Given the description of an element on the screen output the (x, y) to click on. 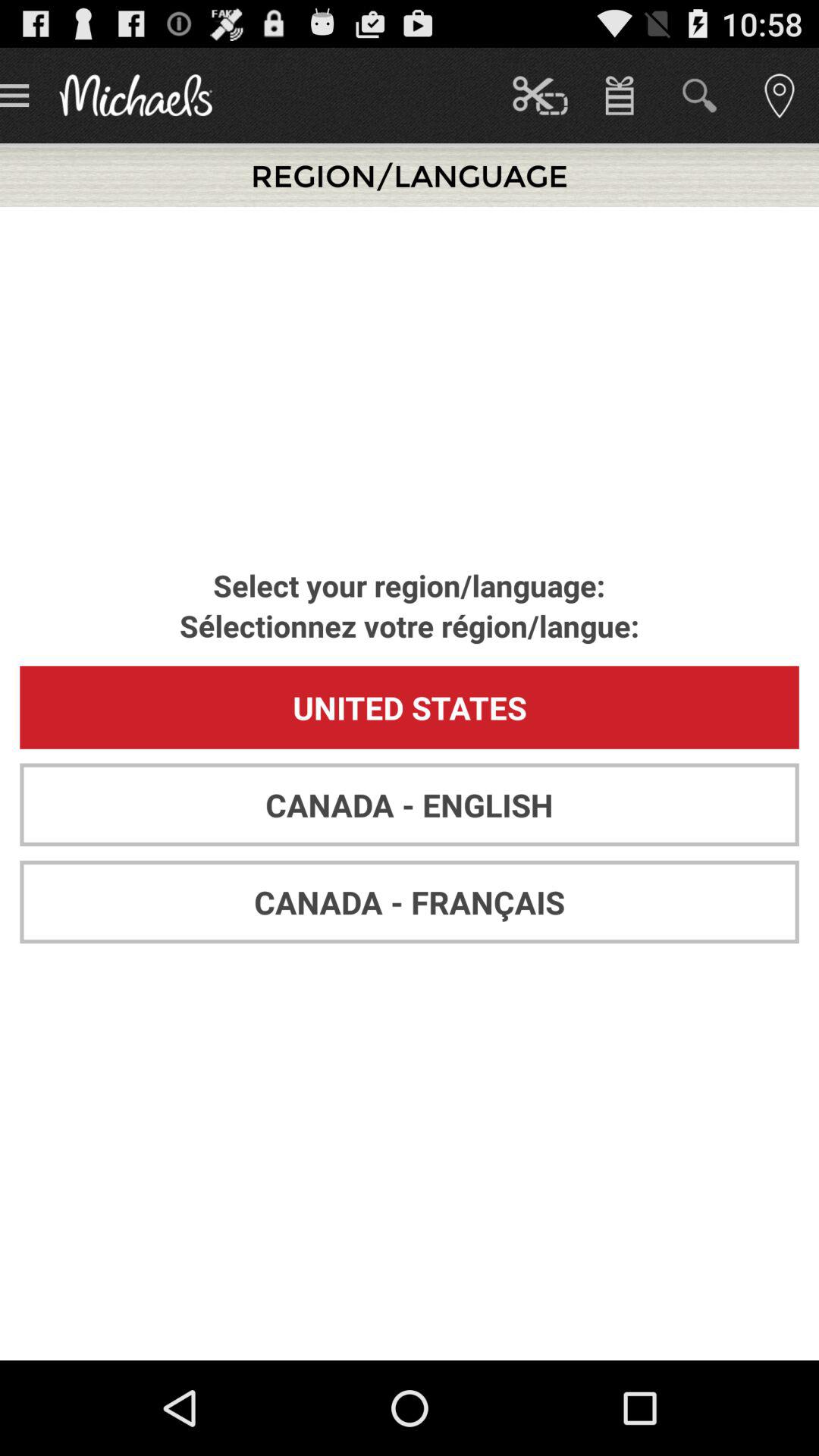
open canada - english item (409, 804)
